Given the description of an element on the screen output the (x, y) to click on. 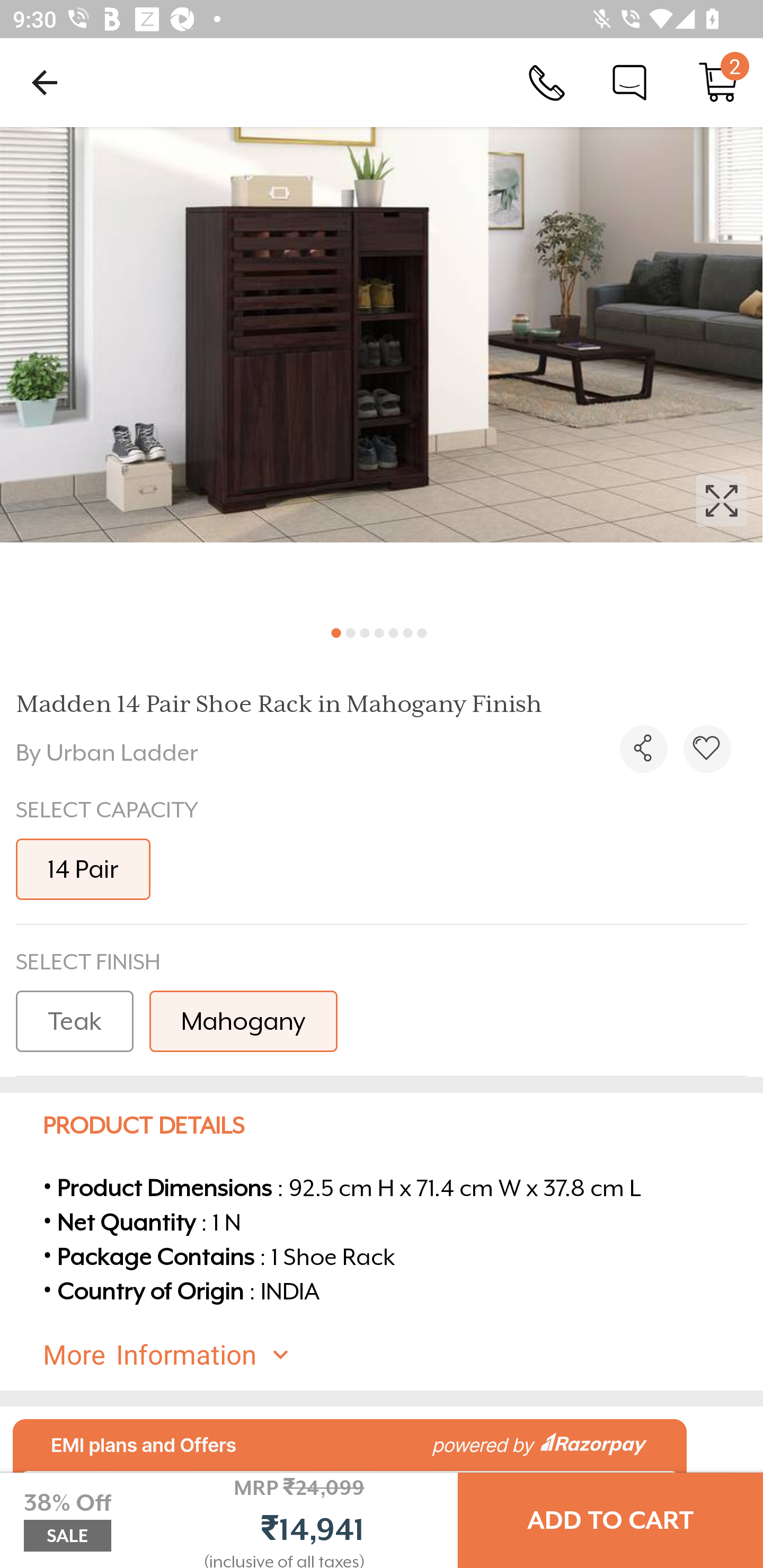
Navigate up (44, 82)
Call Us (546, 81)
Chat (629, 81)
Cart (718, 81)
 (381, 370)
 (643, 748)
 (706, 748)
14 Pair (83, 869)
Teak (74, 1021)
Mahogany (243, 1021)
More Information  (396, 1355)
ADD TO CART (610, 1520)
